Given the description of an element on the screen output the (x, y) to click on. 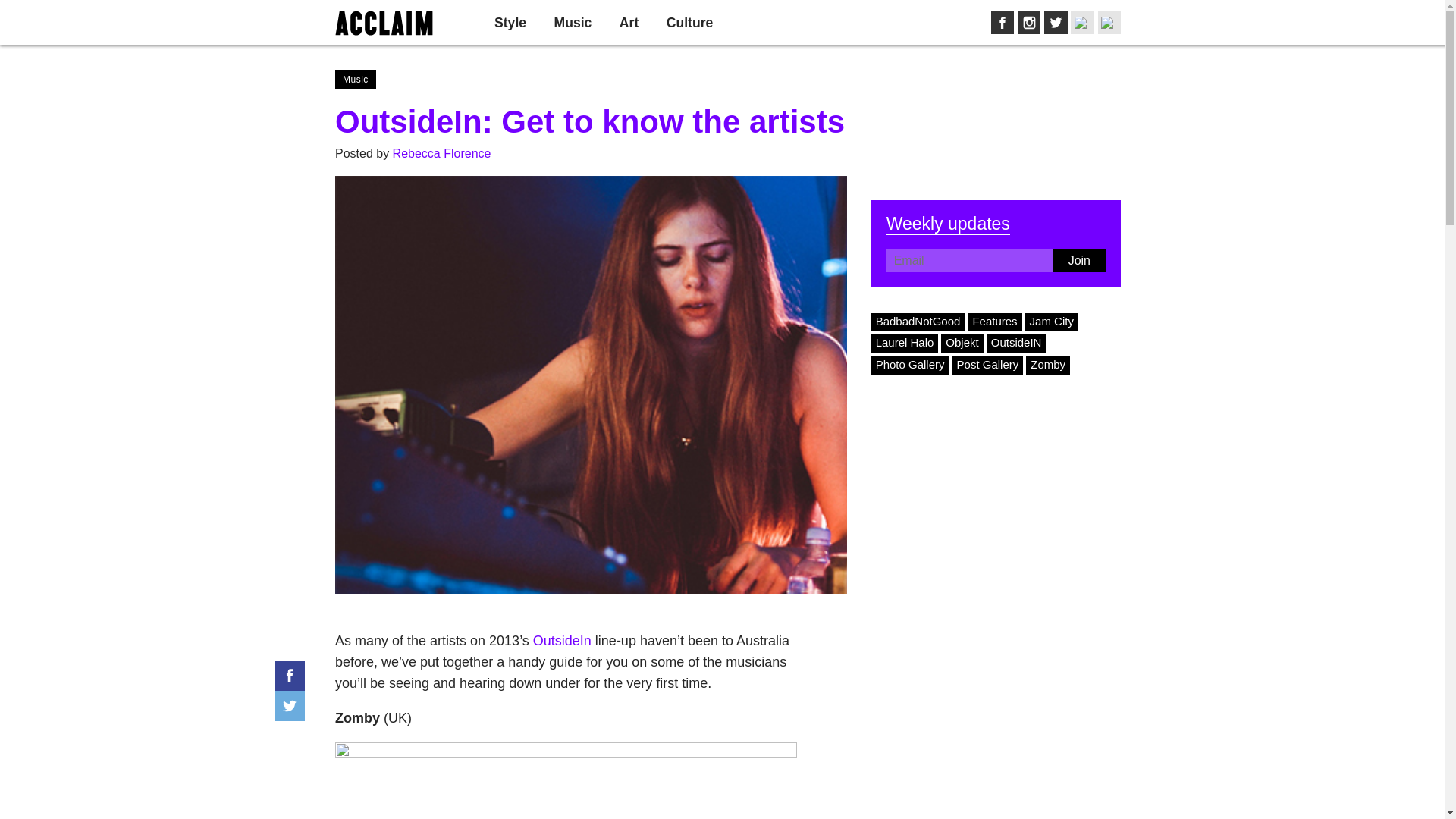
Advertise on Acclaim (1034, 22)
Culture (689, 22)
Contact Us (977, 22)
Advertise (1034, 22)
See all Style posts (510, 22)
Search (1075, 22)
Rebecca Florence (442, 153)
Join (1078, 260)
Search (1075, 22)
Music (573, 22)
